Given the description of an element on the screen output the (x, y) to click on. 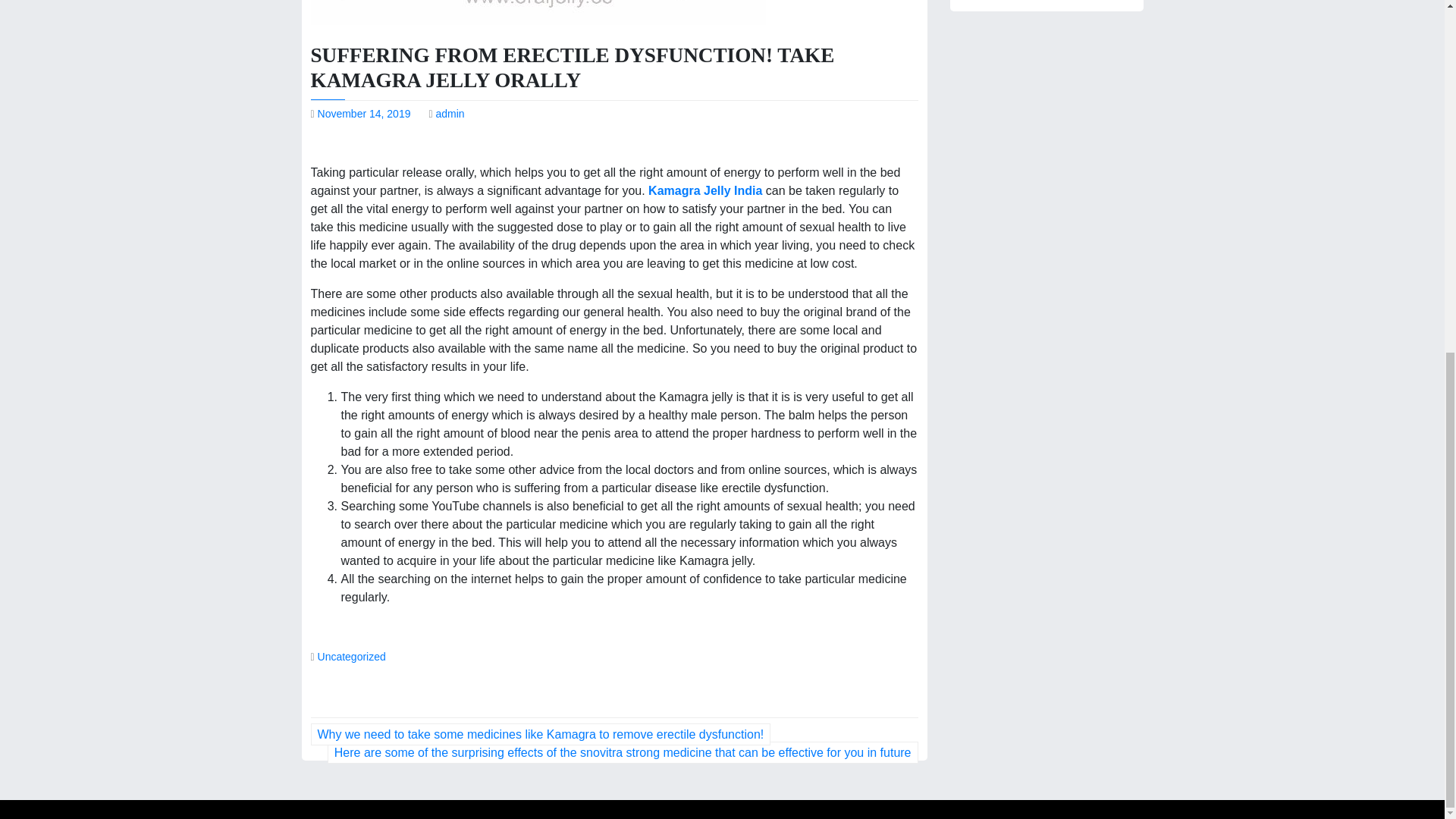
admin (449, 113)
Kamagra Jelly India (706, 190)
Uncategorized (351, 656)
November 14, 2019 (363, 113)
